Given the description of an element on the screen output the (x, y) to click on. 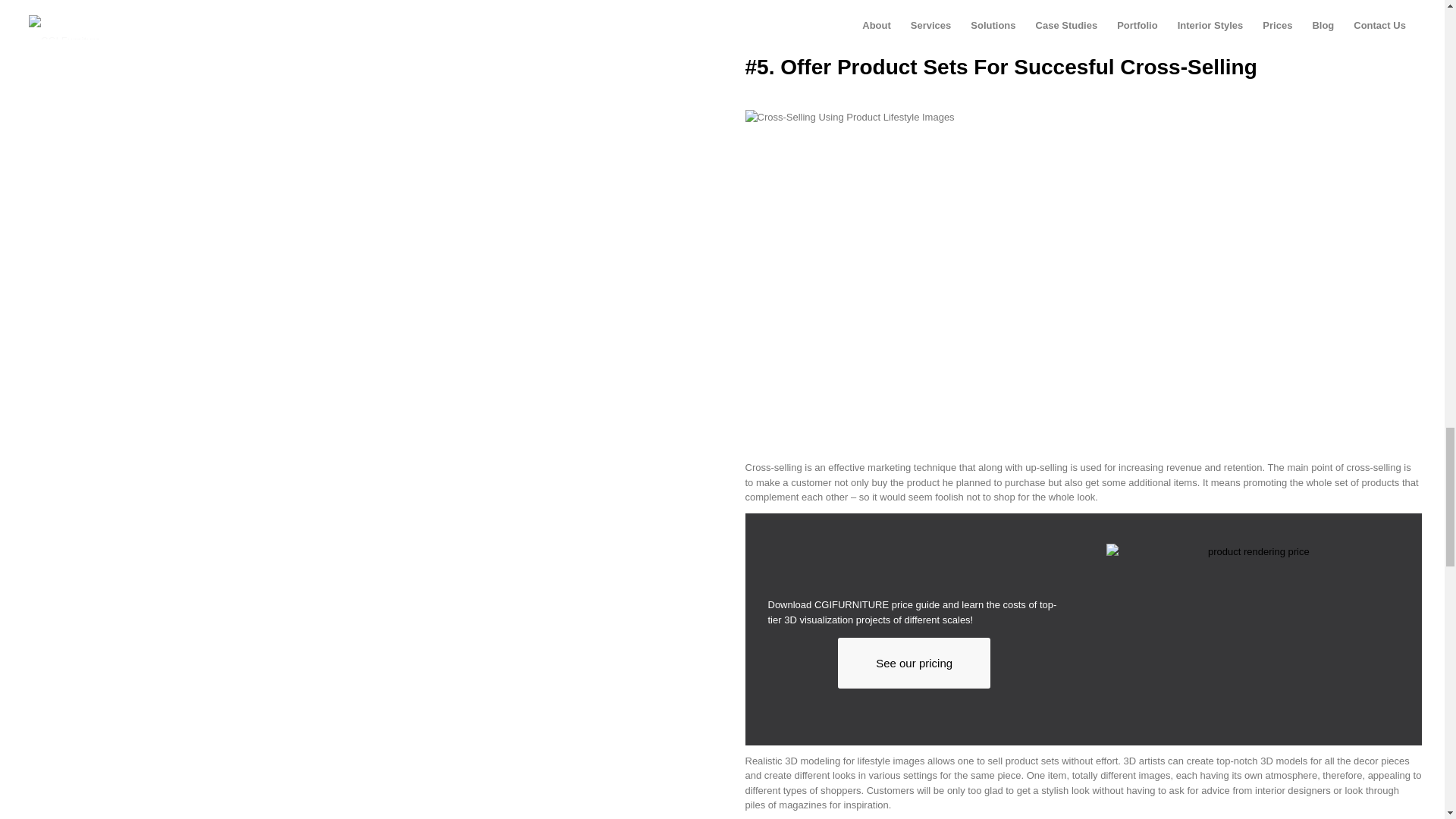
See our pricing (914, 663)
